Given the description of an element on the screen output the (x, y) to click on. 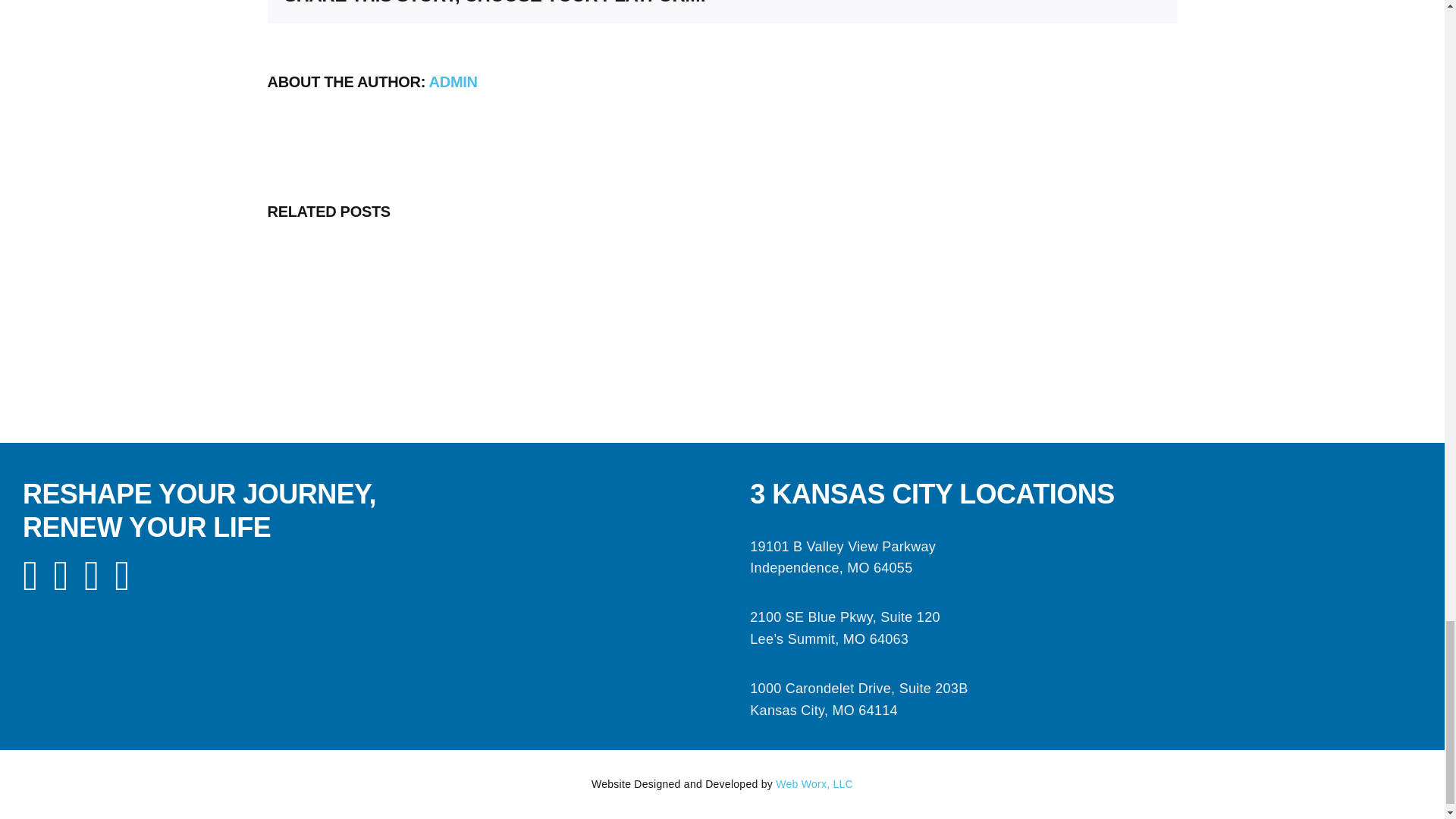
Posts by admin (453, 81)
